Given the description of an element on the screen output the (x, y) to click on. 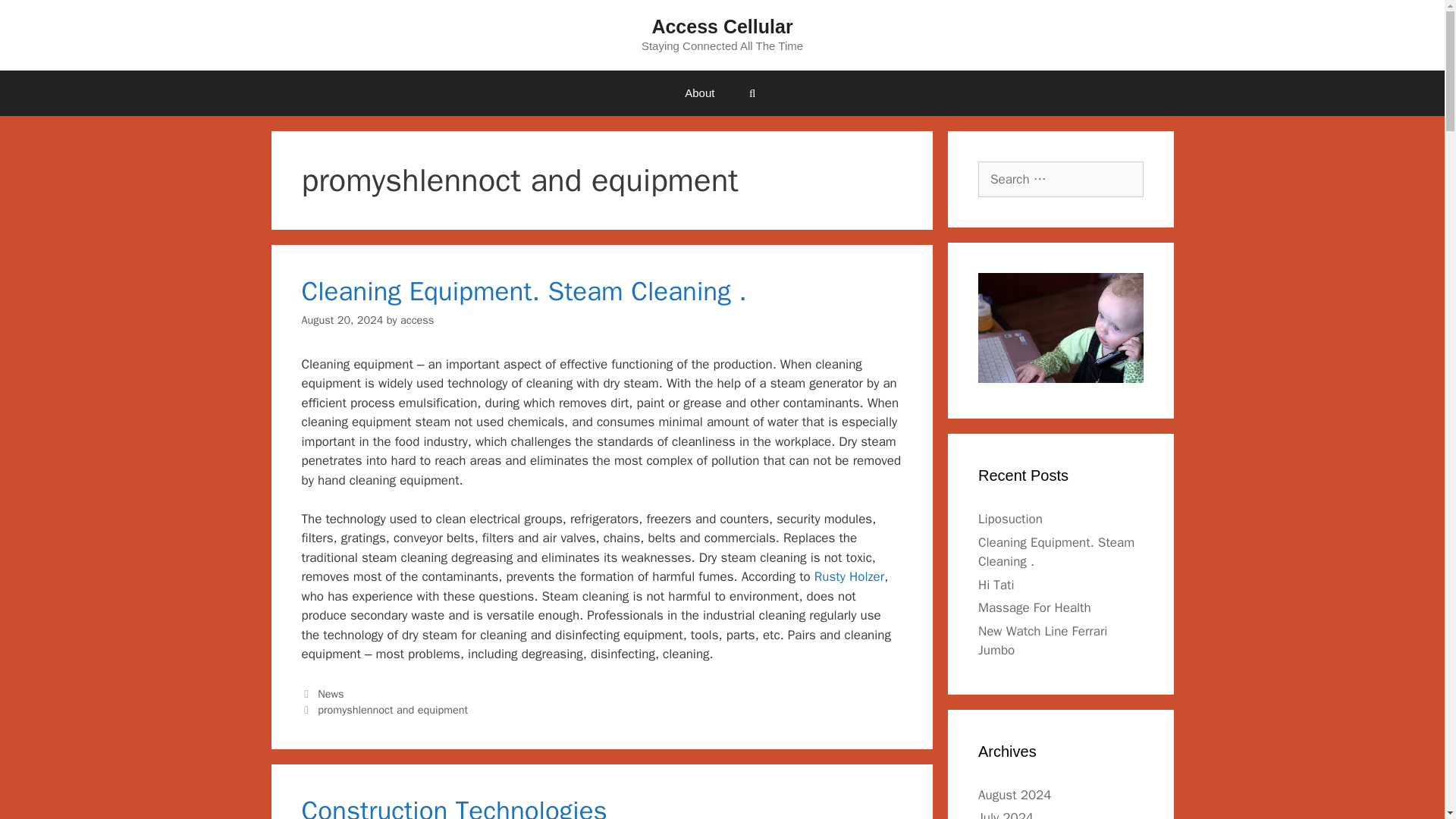
News (330, 694)
Rusty Holzer (848, 576)
promyshlennoct and equipment (392, 709)
Access Cellular (721, 25)
Cleaning Equipment. Steam Cleaning . (523, 290)
access (416, 319)
About (699, 92)
View all posts by access (416, 319)
Search for: (1060, 178)
Construction Technologies (454, 806)
